Given the description of an element on the screen output the (x, y) to click on. 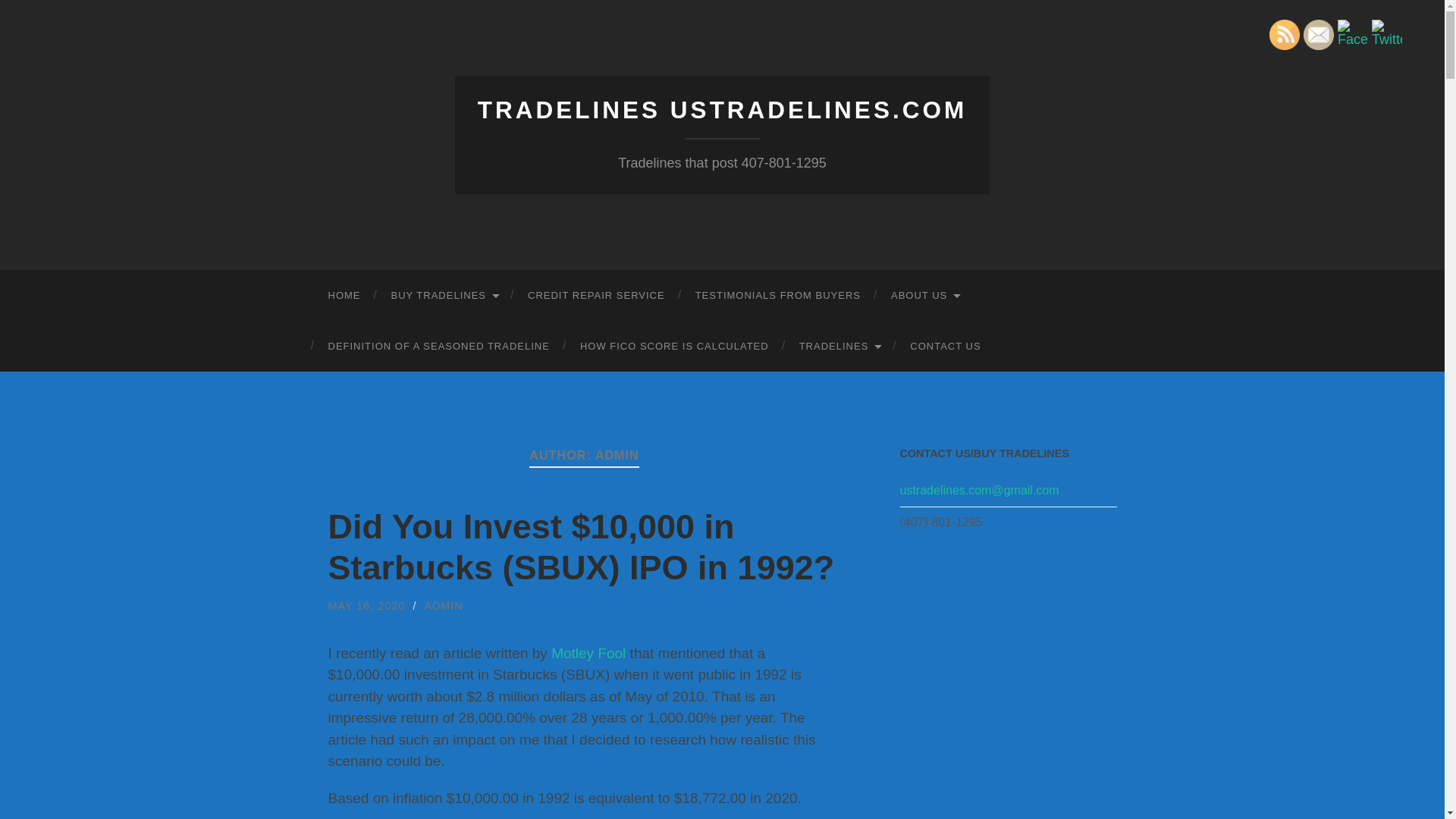
DEFINITION OF A SEASONED TRADELINE (438, 346)
Facebook (1353, 33)
CREDIT REPAIR SERVICE (595, 295)
TRADELINES USTRADELINES.COM (721, 109)
BUY TRADELINES (444, 295)
TRADELINES (839, 346)
Twitter (1386, 33)
ABOUT US (925, 295)
HOME (344, 295)
Follow by Email (1318, 34)
